Given the description of an element on the screen output the (x, y) to click on. 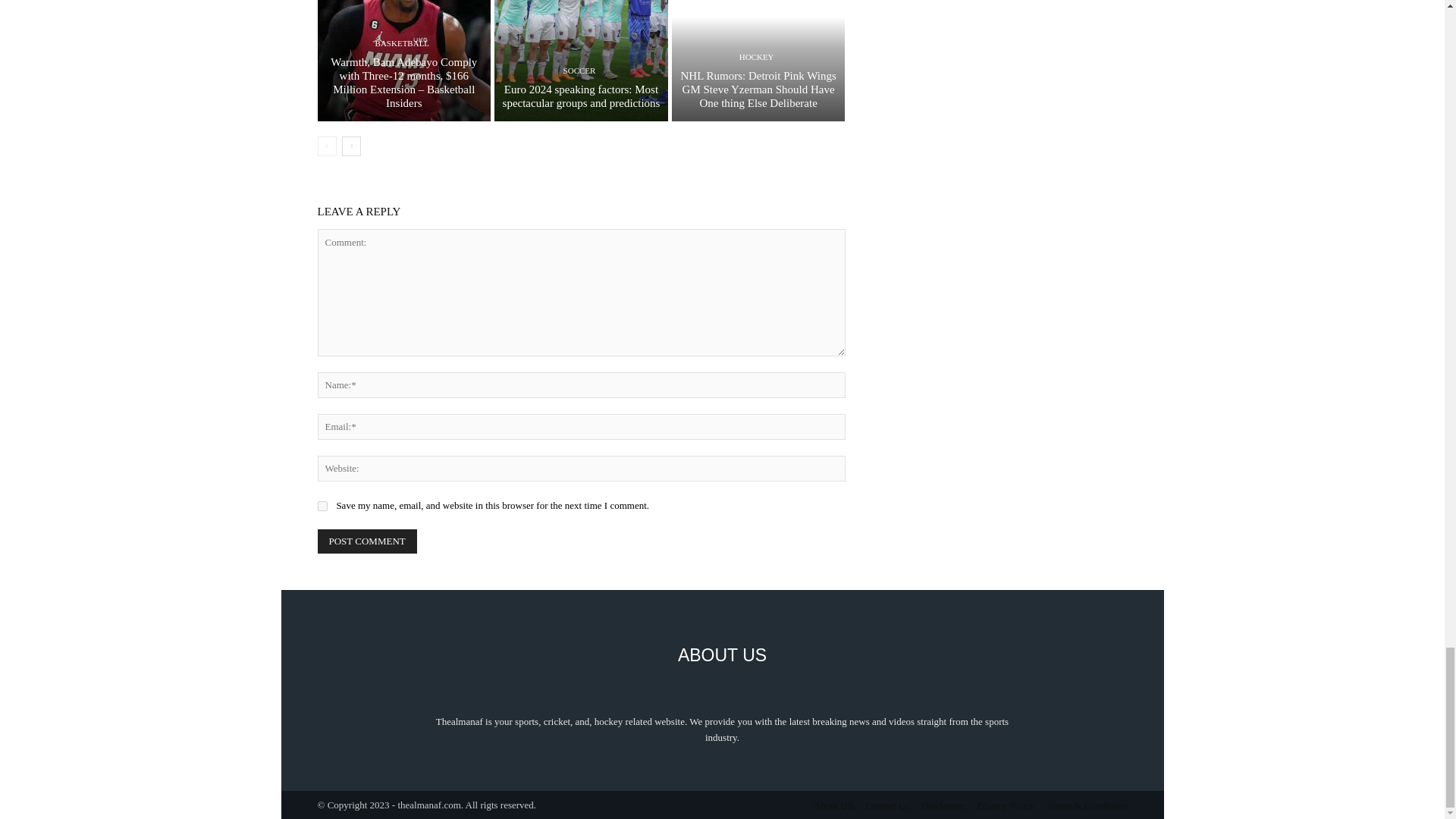
Post Comment (366, 541)
yes (321, 506)
